Given the description of an element on the screen output the (x, y) to click on. 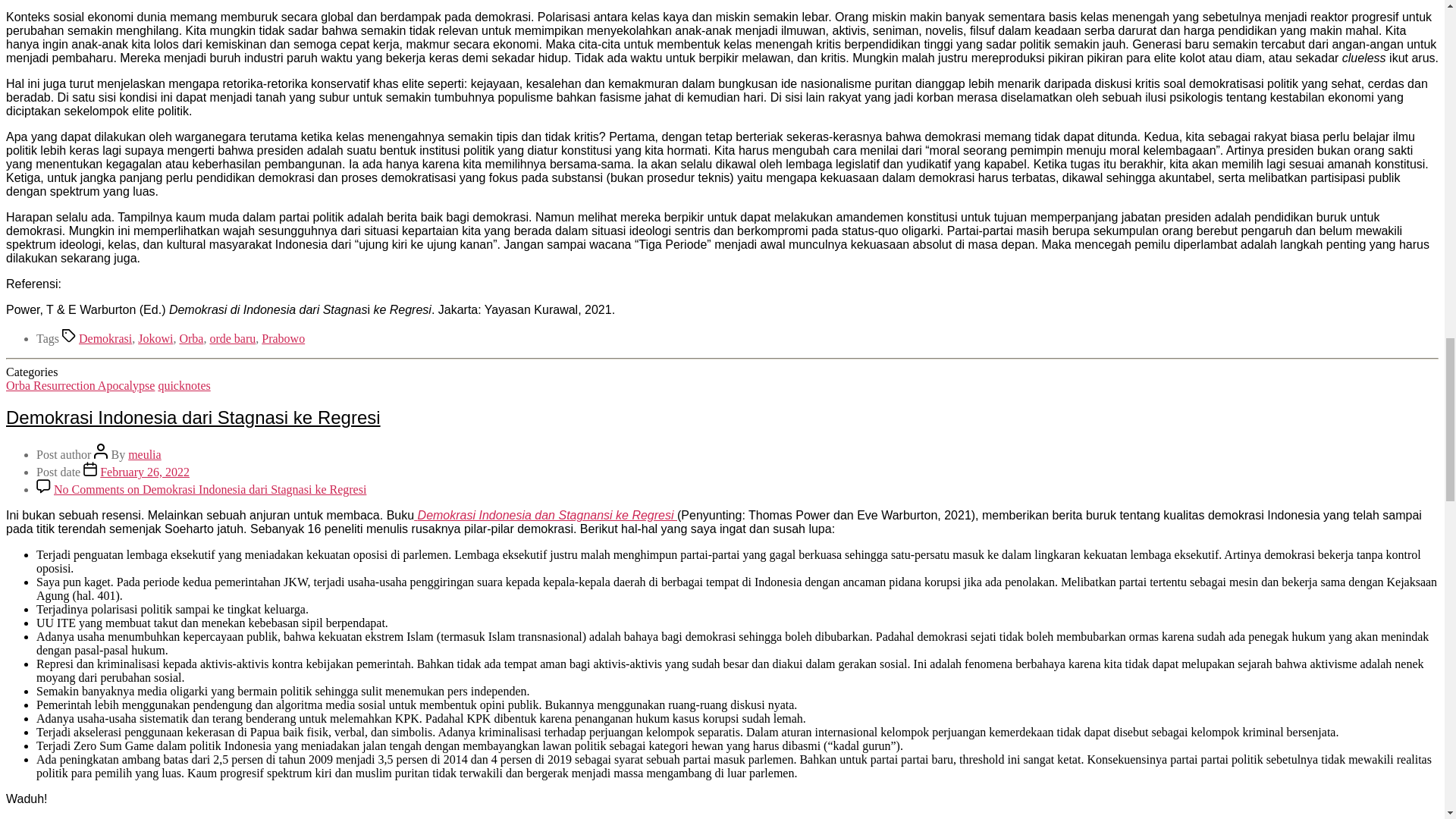
Orba (191, 338)
Jokowi (155, 338)
February 26, 2022 (144, 472)
Prabowo (283, 338)
meulia (144, 454)
Demokrasi (105, 338)
Orba Resurrection Apocalypse (79, 385)
quicknotes (183, 385)
Demokrasi Indonesia dari Stagnasi ke Regresi (192, 417)
orde baru (232, 338)
No Comments on Demokrasi Indonesia dari Stagnasi ke Regresi (209, 489)
